Given the description of an element on the screen output the (x, y) to click on. 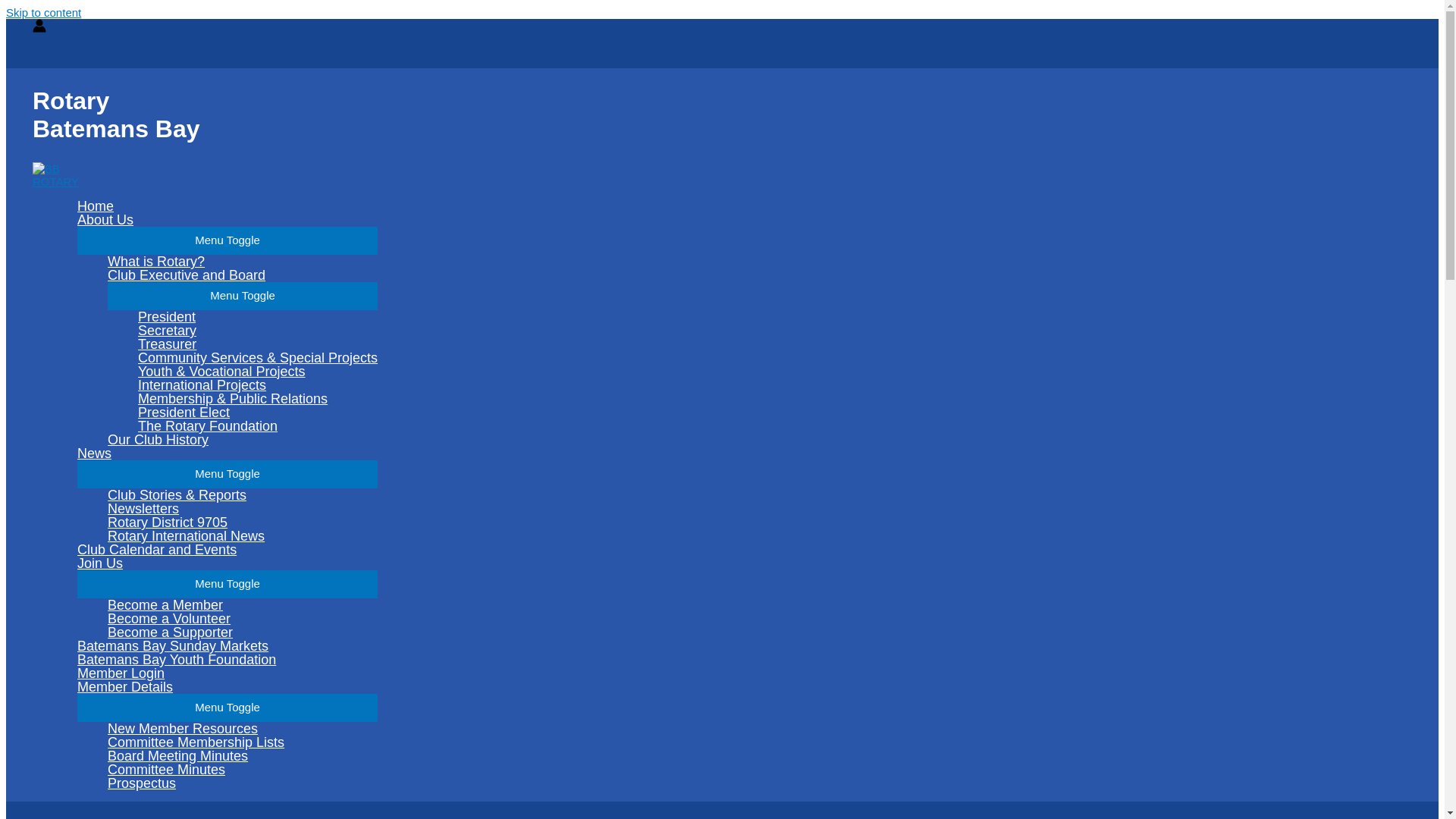
Rotary International News Element type: text (242, 535)
Menu Toggle Element type: text (227, 583)
Youth & Vocational Projects Element type: text (257, 371)
Community Services & Special Projects Element type: text (257, 357)
Menu Toggle Element type: text (227, 239)
The Rotary Foundation Element type: text (257, 426)
Member Login Element type: text (227, 673)
Become a Volunteer Element type: text (242, 618)
Club Executive and Board Element type: text (242, 275)
Our Club History Element type: text (242, 439)
Rotary District 9705 Element type: text (242, 522)
President Element type: text (257, 316)
Menu Toggle Element type: text (242, 295)
Become a Member Element type: text (242, 604)
New Member Resources Element type: text (242, 728)
President Elect Element type: text (257, 412)
Club Calendar and Events Element type: text (227, 549)
About Us Element type: text (227, 219)
Treasurer Element type: text (257, 344)
Secretary Element type: text (257, 330)
Batemans Bay Sunday Markets Element type: text (227, 645)
Prospectus Element type: text (242, 783)
Board Meeting Minutes Element type: text (242, 755)
Join Us Element type: text (227, 563)
Become a Supporter Element type: text (242, 632)
International Projects Element type: text (257, 385)
Membership & Public Relations Element type: text (257, 398)
Batemans Bay Youth Foundation Element type: text (227, 659)
Menu Toggle Element type: text (227, 473)
Committee Minutes Element type: text (242, 769)
Newsletters Element type: text (242, 508)
Member Details Element type: text (227, 686)
Committee Membership Lists Element type: text (242, 742)
Home Element type: text (227, 206)
Skip to content Element type: text (43, 12)
Menu Toggle Element type: text (227, 706)
Club Stories & Reports Element type: text (242, 495)
News Element type: text (227, 453)
What is Rotary? Element type: text (242, 261)
